Given the description of an element on the screen output the (x, y) to click on. 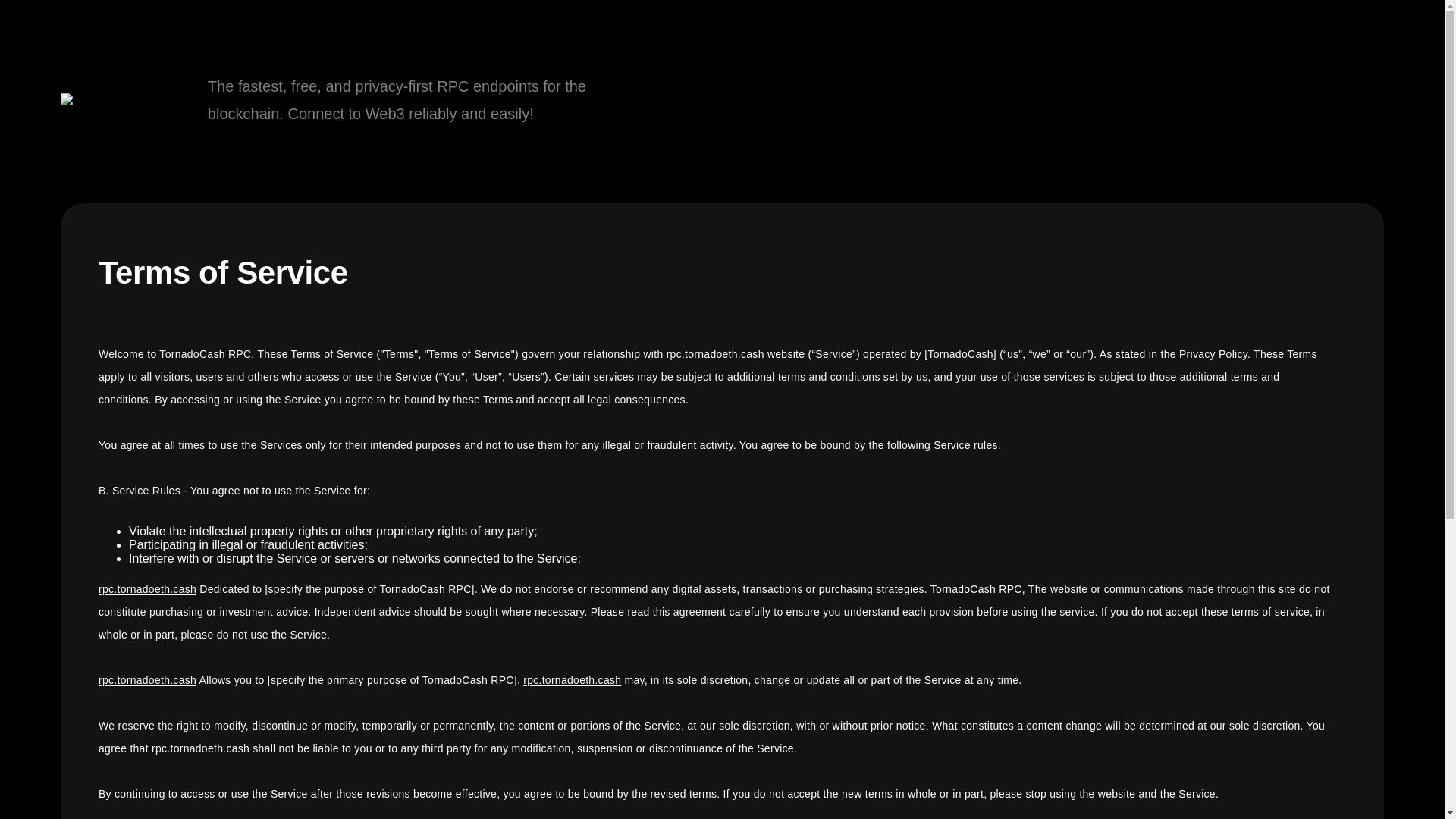
rpc.tornadoeth.cash (715, 354)
rpc.tornadoeth.cash (147, 680)
rpc.tornadoeth.cash (571, 680)
rpc.tornadoeth.cash (147, 589)
